Given the description of an element on the screen output the (x, y) to click on. 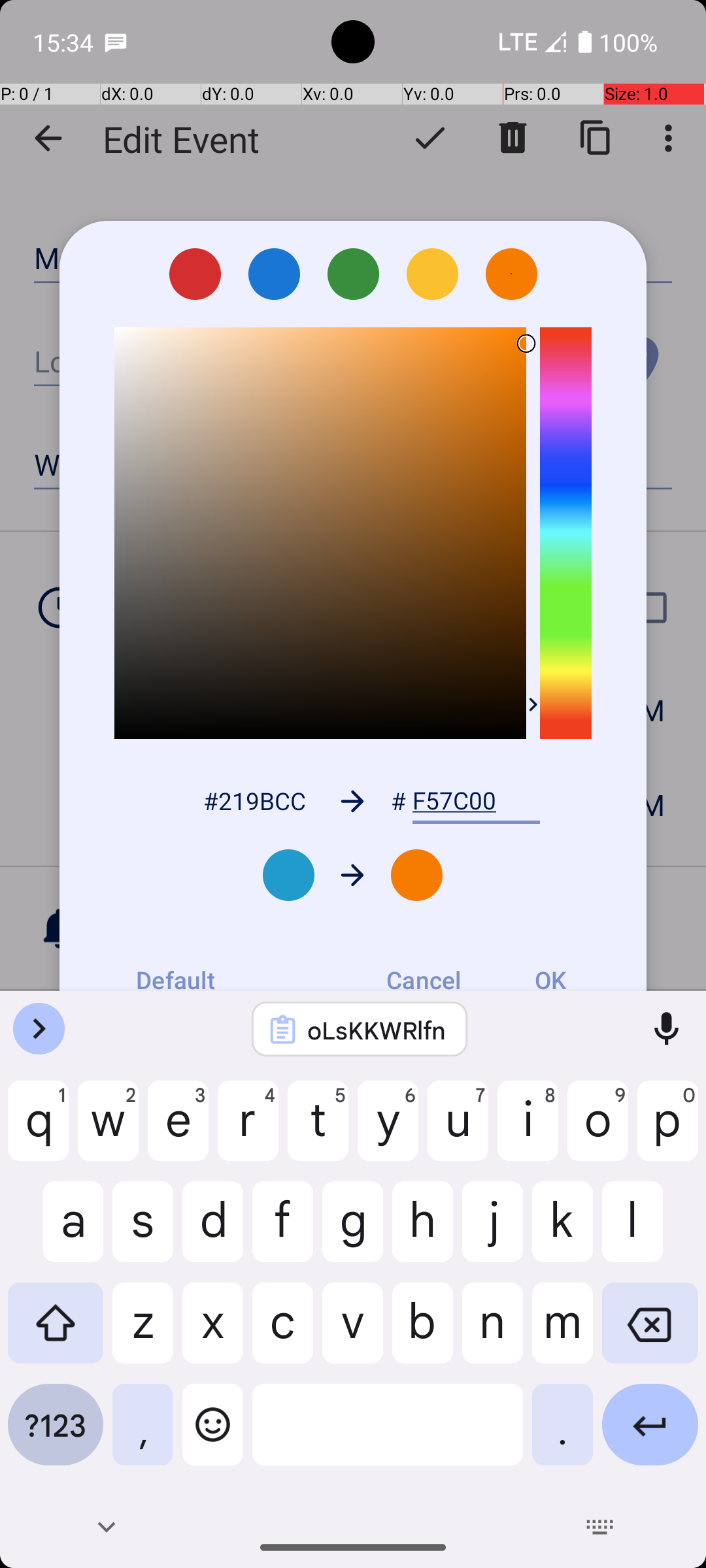
F57C00 Element type: android.widget.EditText (475, 800)
oLsKKWRlfn Element type: android.widget.TextView (376, 1029)
